Given the description of an element on the screen output the (x, y) to click on. 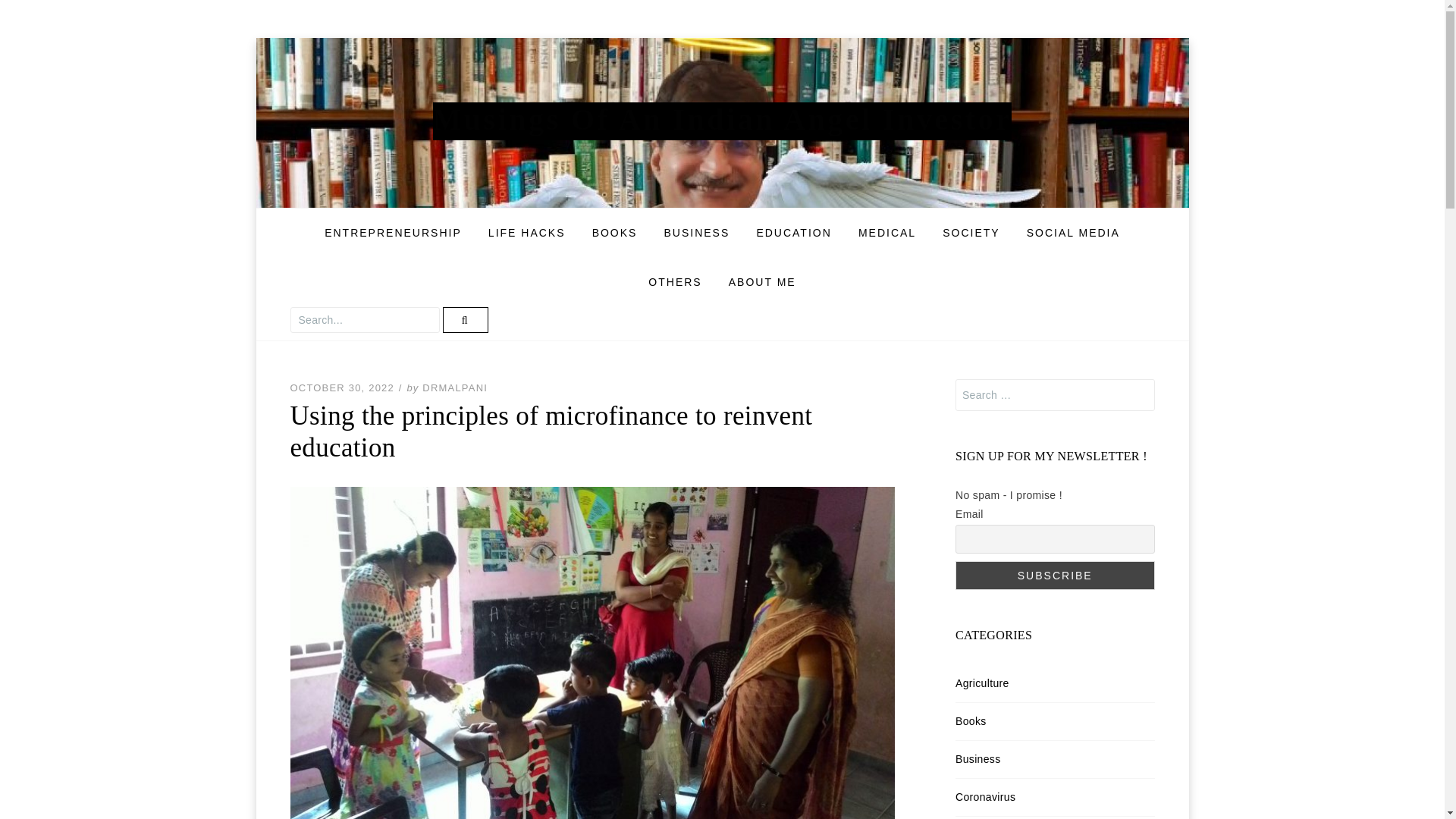
BOOKS (614, 232)
Musings Of An Indian Angel Investor (721, 121)
MEDICAL (887, 232)
Search   (464, 319)
Musings of an Indian Angel Investor (721, 121)
SOCIAL MEDIA (1072, 232)
BUSINESS (696, 232)
DRMALPANI (454, 387)
ENTREPRENEURSHIP (393, 232)
